Given the description of an element on the screen output the (x, y) to click on. 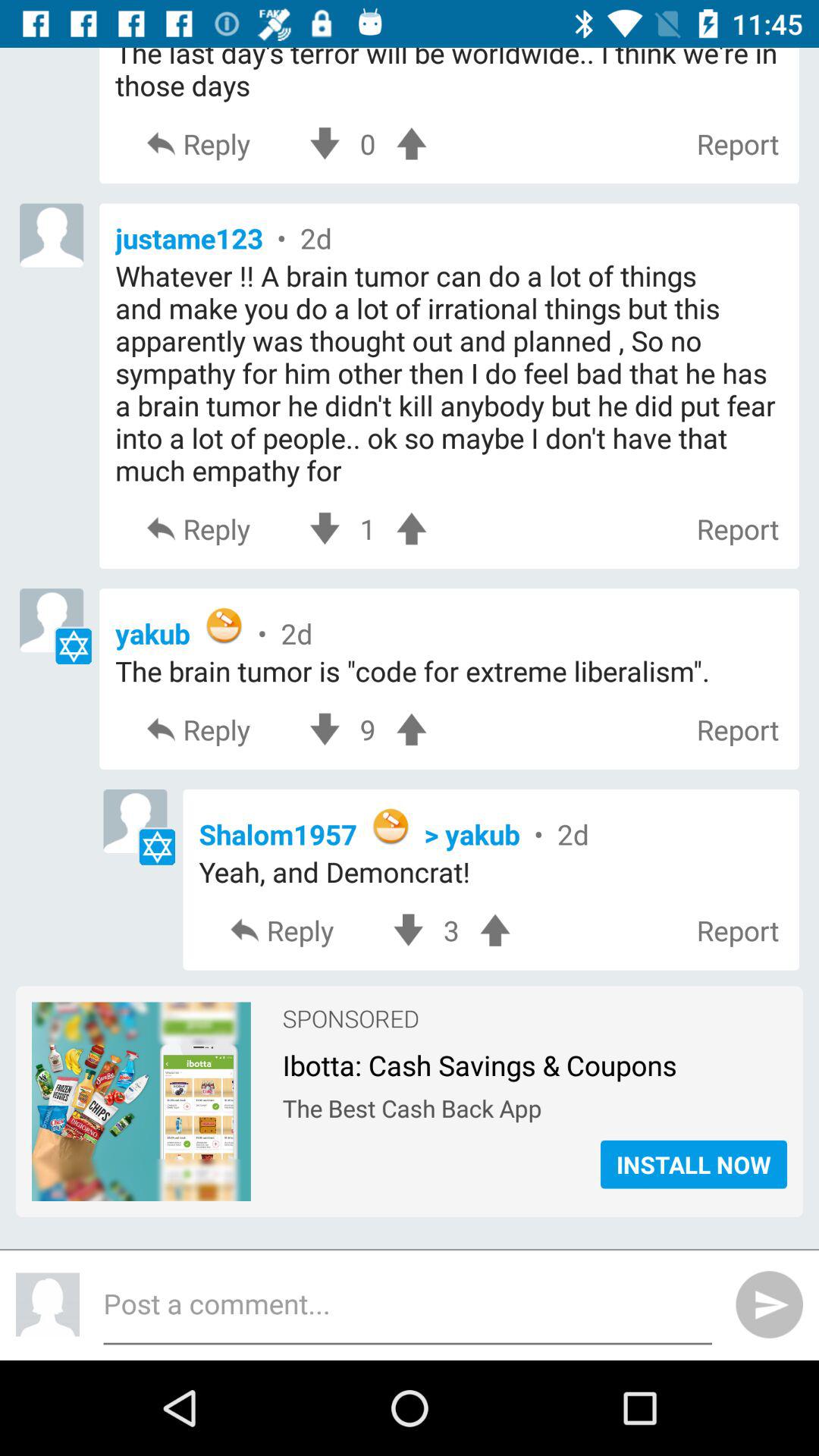
launch icon below ibotta cash savings item (534, 1104)
